Given the description of an element on the screen output the (x, y) to click on. 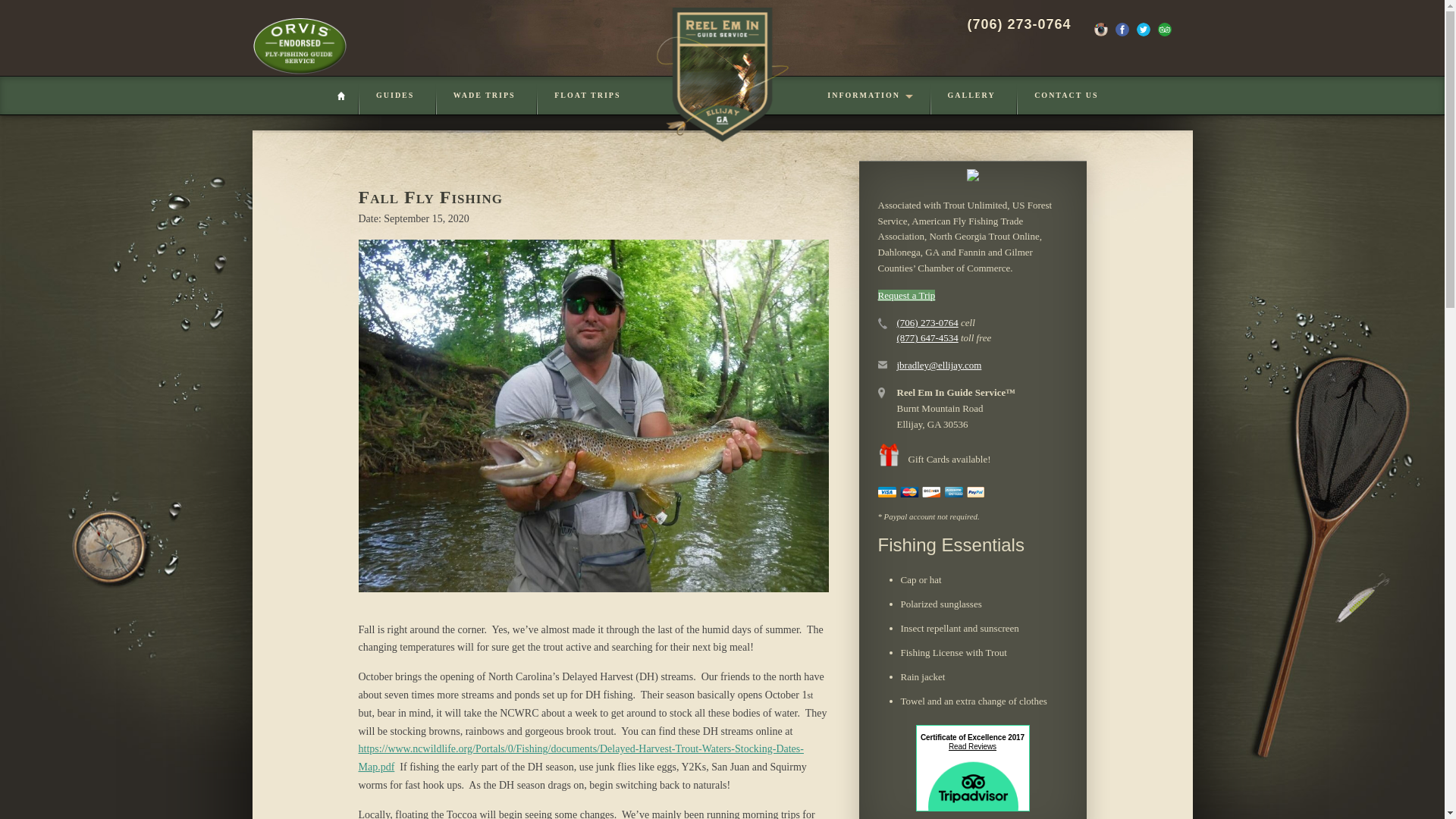
HOME (345, 95)
Request a Trip (906, 295)
Instagram (1099, 29)
Google Plus (1184, 29)
North Georgia guide service (722, 75)
FLOAT TRIPS (587, 95)
GALLERY (971, 95)
Facebook (1121, 29)
CONTACT US (1066, 95)
WADE TRIPS (484, 95)
GUIDES (395, 95)
Twitter (1142, 29)
INFORMATION (867, 95)
Trip Advisor (1163, 29)
